Given the description of an element on the screen output the (x, y) to click on. 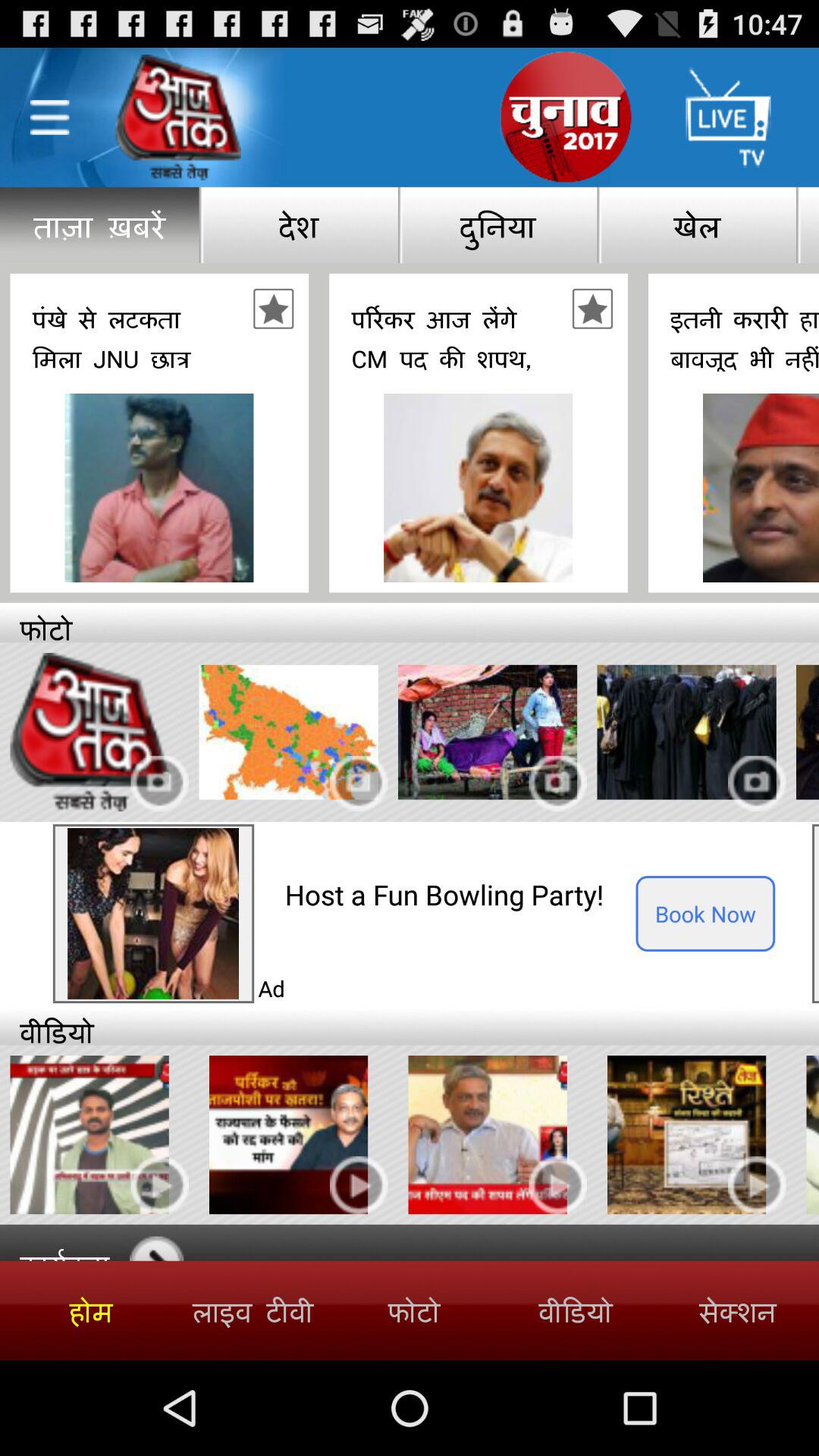
select item to the right of the host a fun item (705, 913)
